Given the description of an element on the screen output the (x, y) to click on. 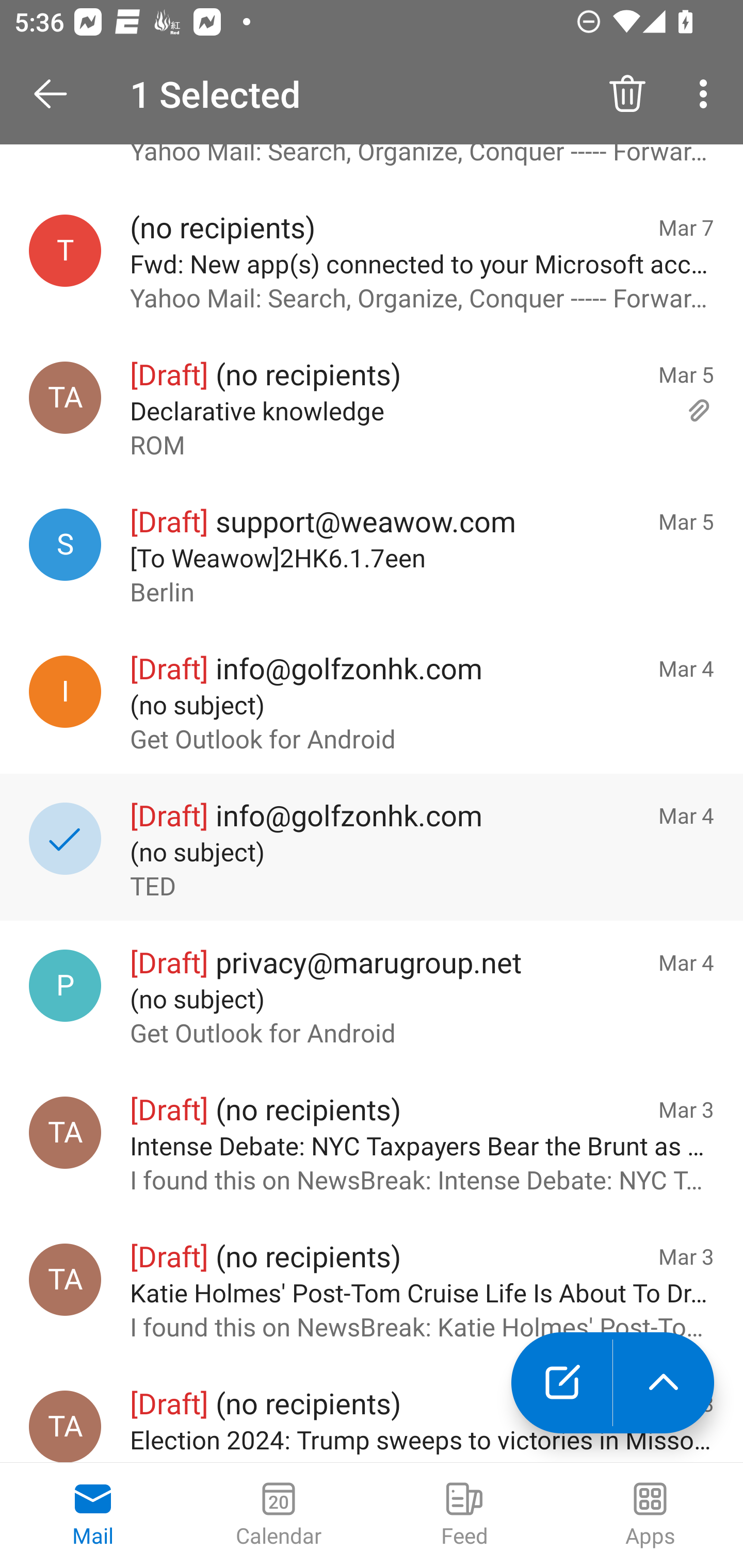
Delete (626, 93)
More options (706, 93)
Open Navigation Drawer (57, 94)
testappium002@outlook.com (64, 250)
Test Appium, testappium002@outlook.com (64, 398)
support@weawow.com (64, 544)
info@golfzonhk.com (64, 691)
privacy@marugroup.net (64, 986)
Test Appium, testappium002@outlook.com (64, 1132)
Test Appium, testappium002@outlook.com (64, 1279)
New mail (561, 1382)
launch the extended action menu (663, 1382)
Test Appium, testappium002@outlook.com (64, 1426)
Calendar (278, 1515)
Feed (464, 1515)
Apps (650, 1515)
